Given the description of an element on the screen output the (x, y) to click on. 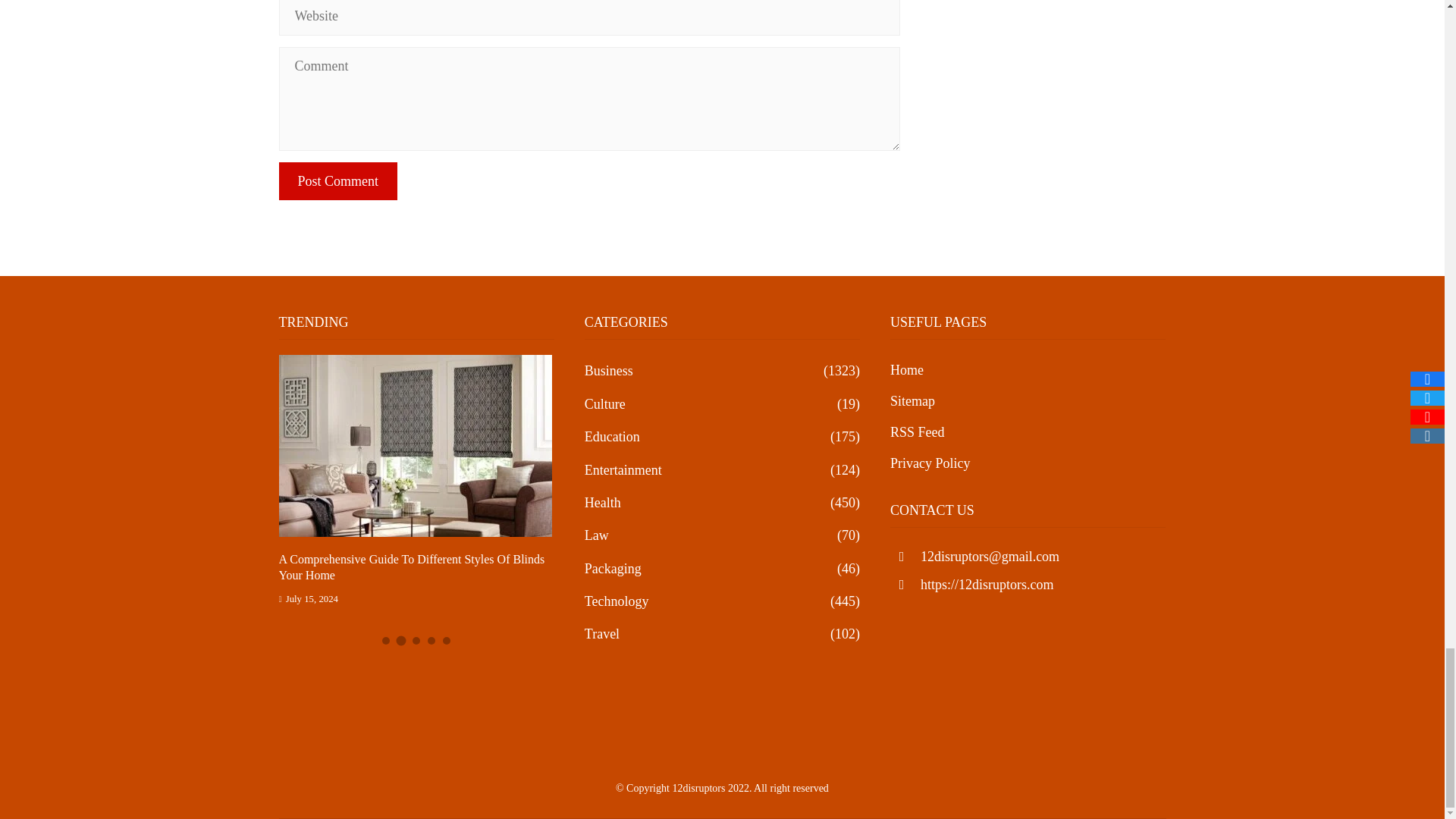
Post Comment (338, 180)
